Given the description of an element on the screen output the (x, y) to click on. 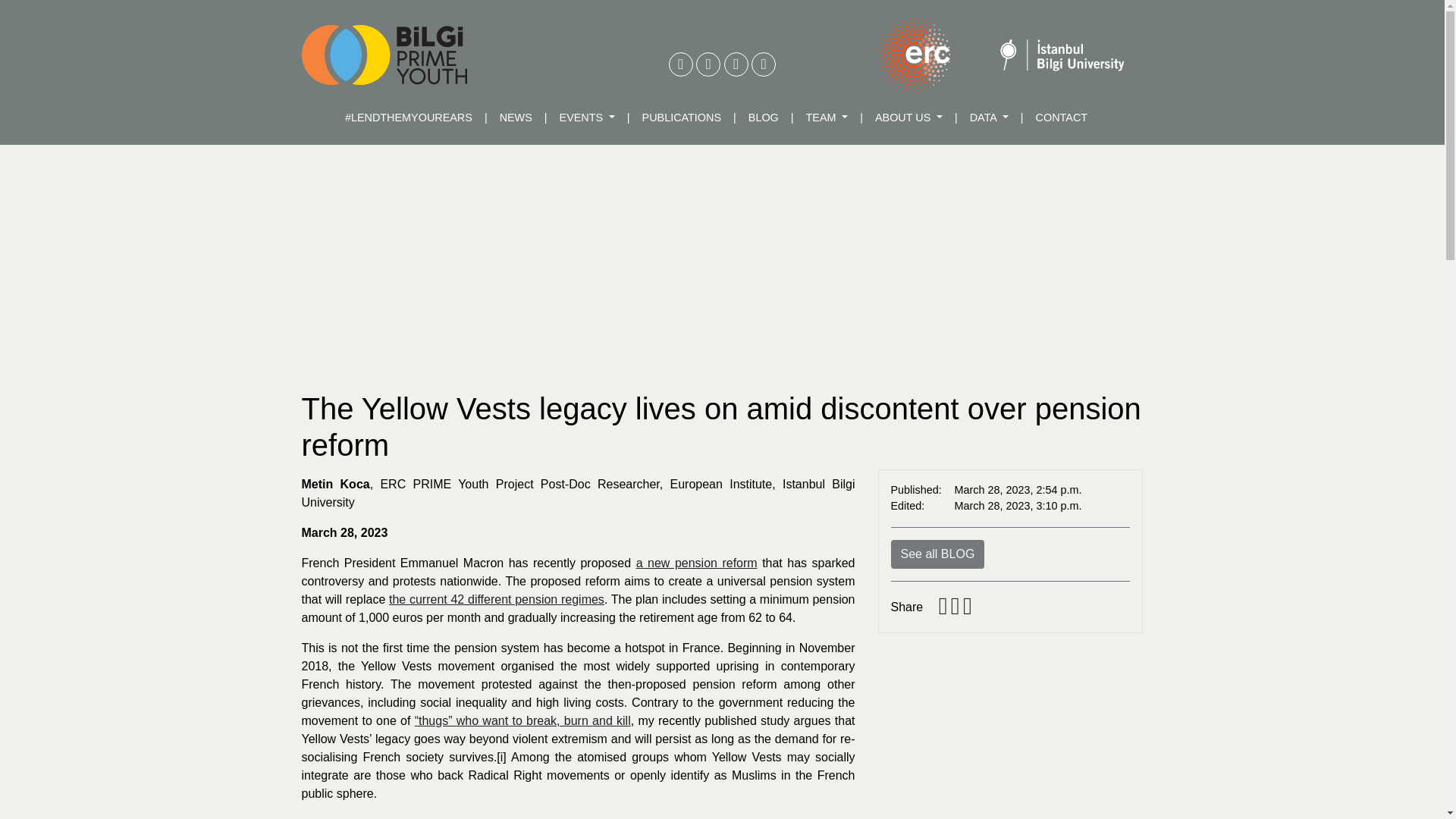
CONTACT (1061, 118)
NEWS (515, 118)
BLOG (763, 118)
DATA (988, 118)
PUBLICATIONS (682, 118)
ABOUT US (909, 118)
the current 42 different pension regimes (496, 599)
See all BLOG (936, 553)
See all BLOG (936, 553)
TEAM (826, 118)
